Given the description of an element on the screen output the (x, y) to click on. 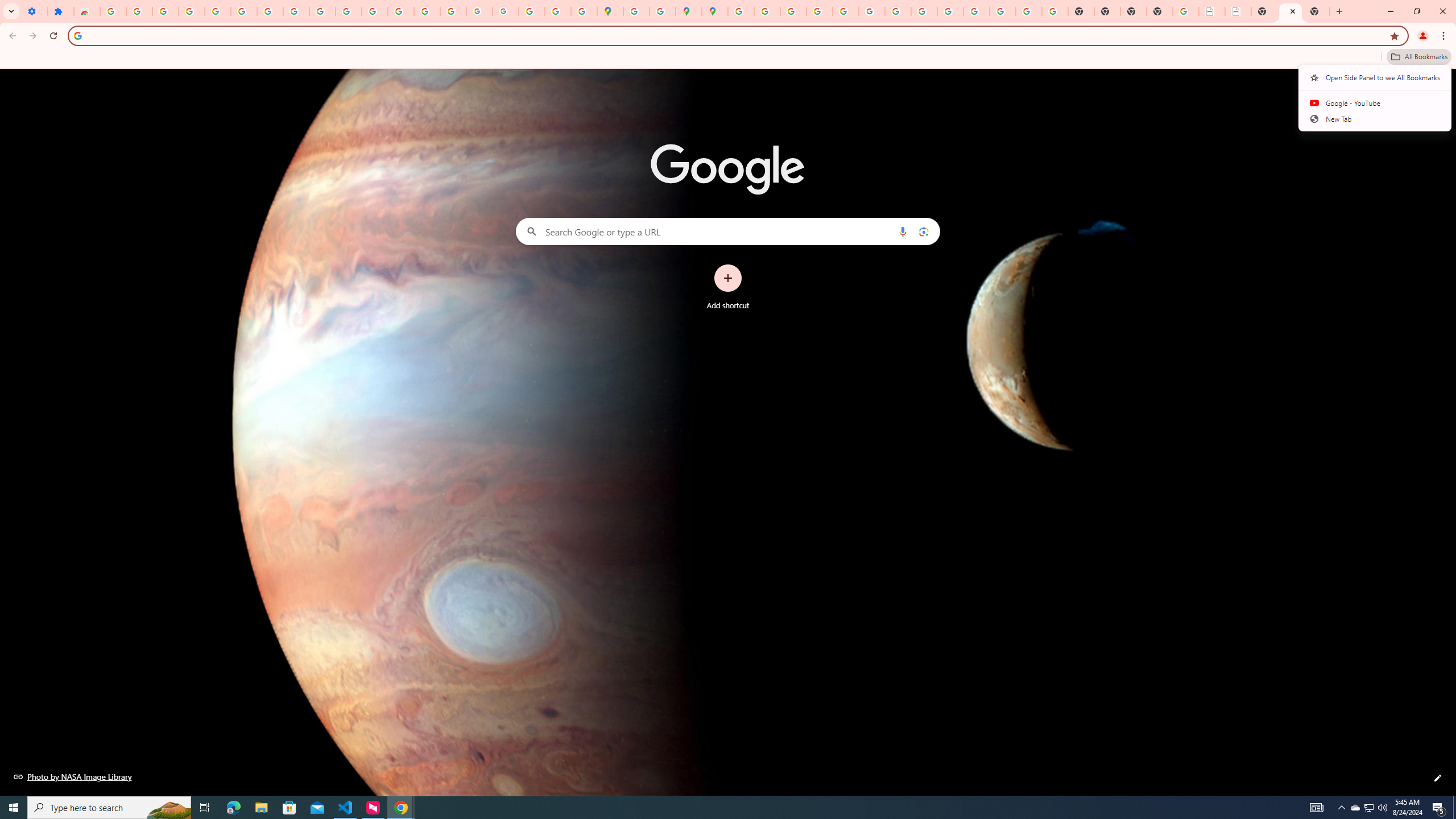
New Tab (1159, 11)
Privacy Help Center - Policies Help (818, 11)
Delete photos & videos - Computer - Google Photos Help (165, 11)
Learn how to find your photos - Google Photos Help (191, 11)
Google Maps (610, 11)
Extensions (60, 11)
Search Google or type a URL (727, 230)
